Given the description of an element on the screen output the (x, y) to click on. 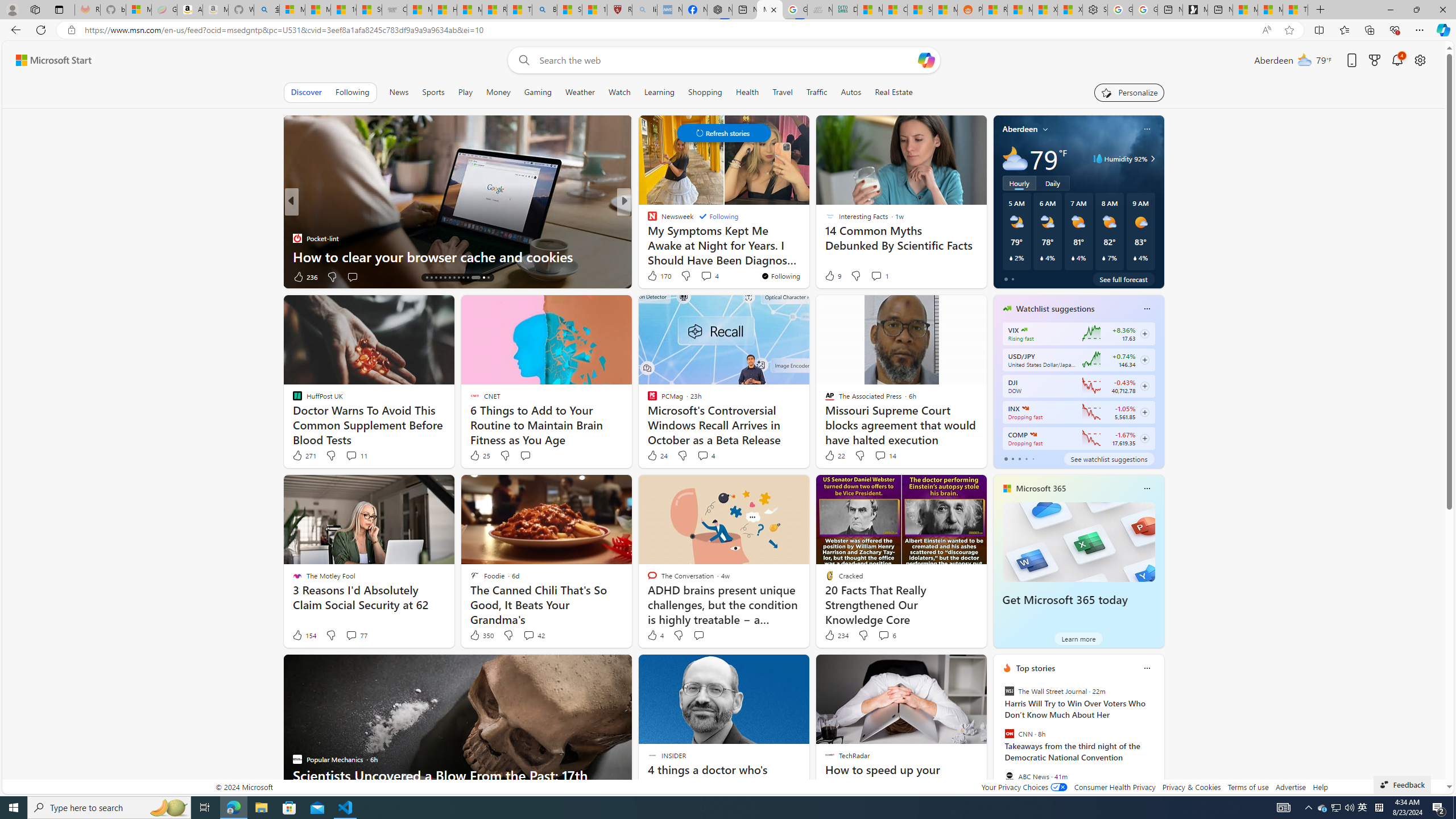
Play (465, 92)
Health (746, 92)
Aberdeen (1019, 128)
Microsoft rewards (1374, 60)
Pocket-lint (296, 238)
View comments 1 Comment (876, 275)
25 Like (479, 455)
Class: control (723, 132)
Navy Quest (819, 9)
